Given the description of an element on the screen output the (x, y) to click on. 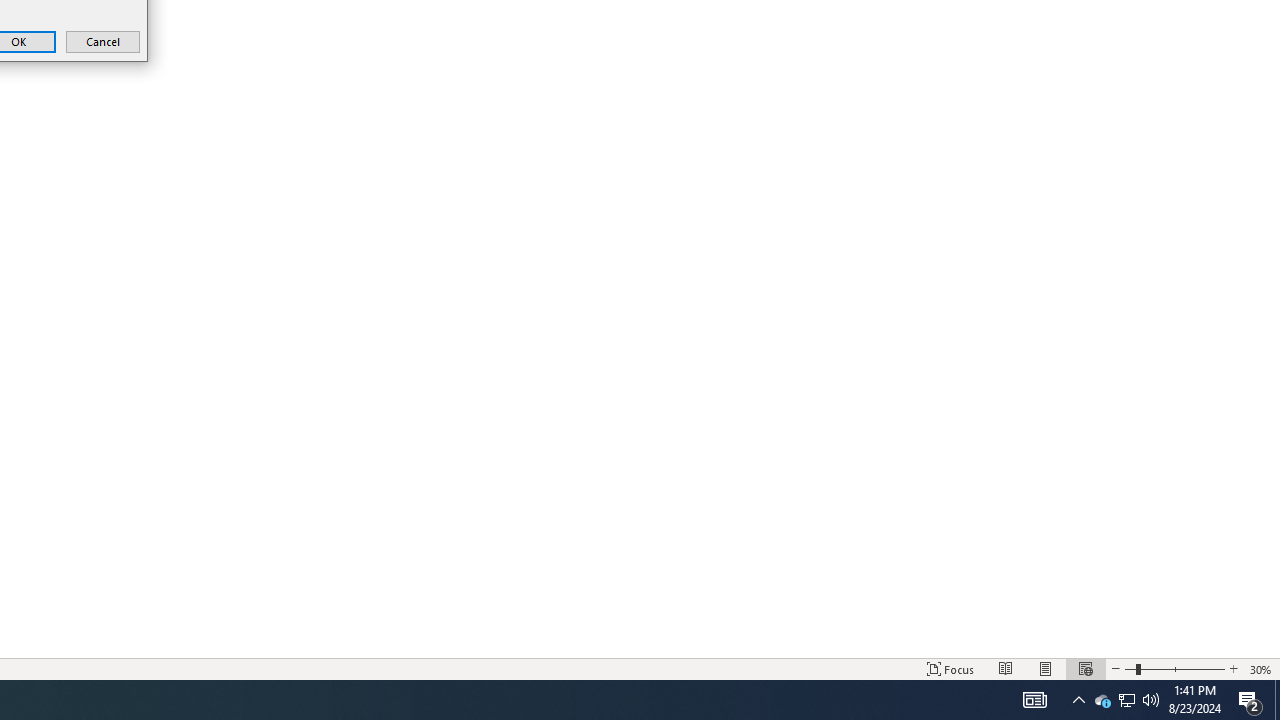
Cancel (102, 42)
Zoom 30% (1261, 668)
